Given the description of an element on the screen output the (x, y) to click on. 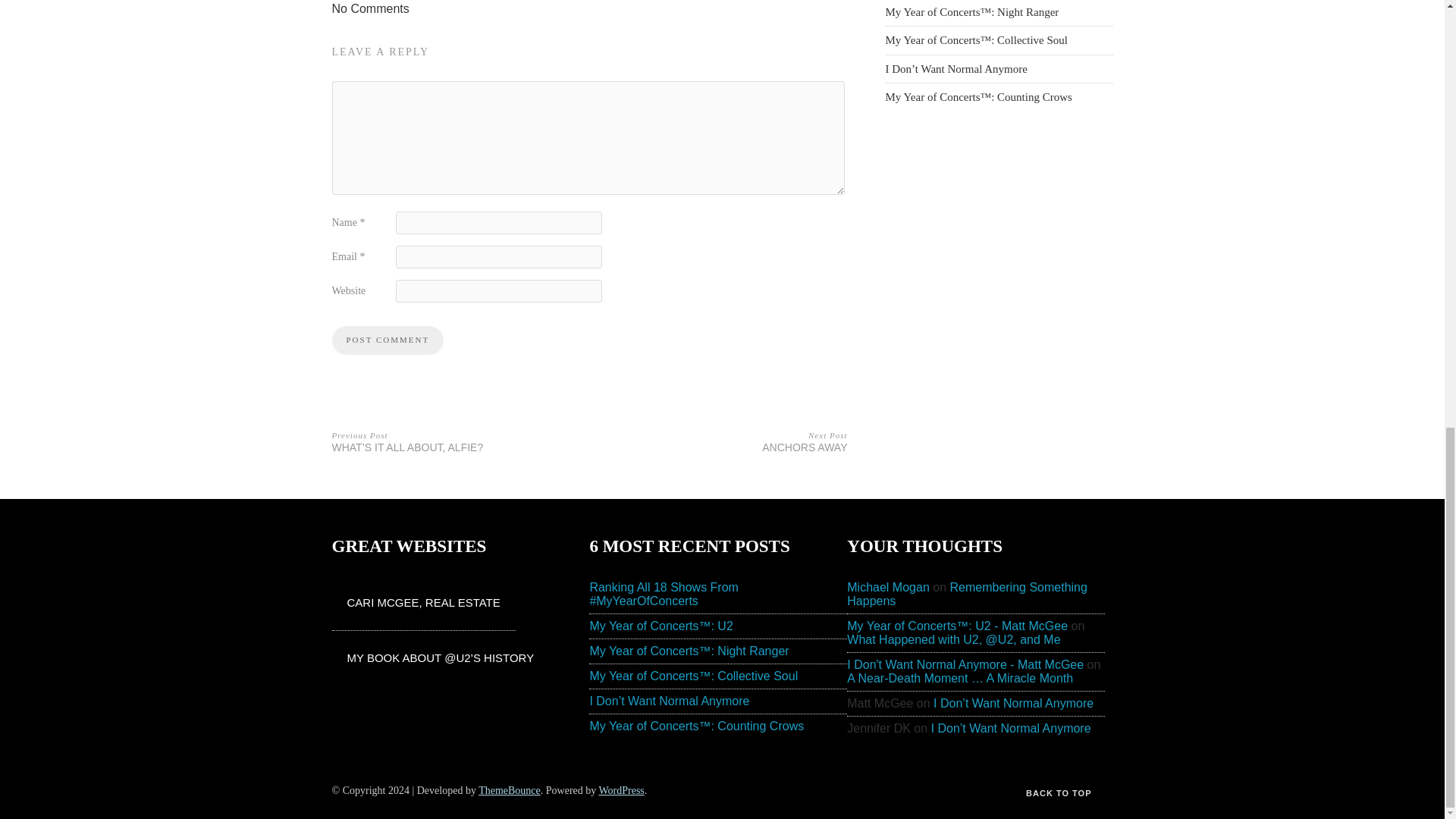
CARI MCGEE, REAL ESTATE (423, 602)
Post Comment (387, 339)
Michael Mogan (888, 586)
Post Comment (723, 440)
Remembering Something Happens (387, 339)
I Don't Want Normal Anymore - Matt McGee (967, 593)
